Given the description of an element on the screen output the (x, y) to click on. 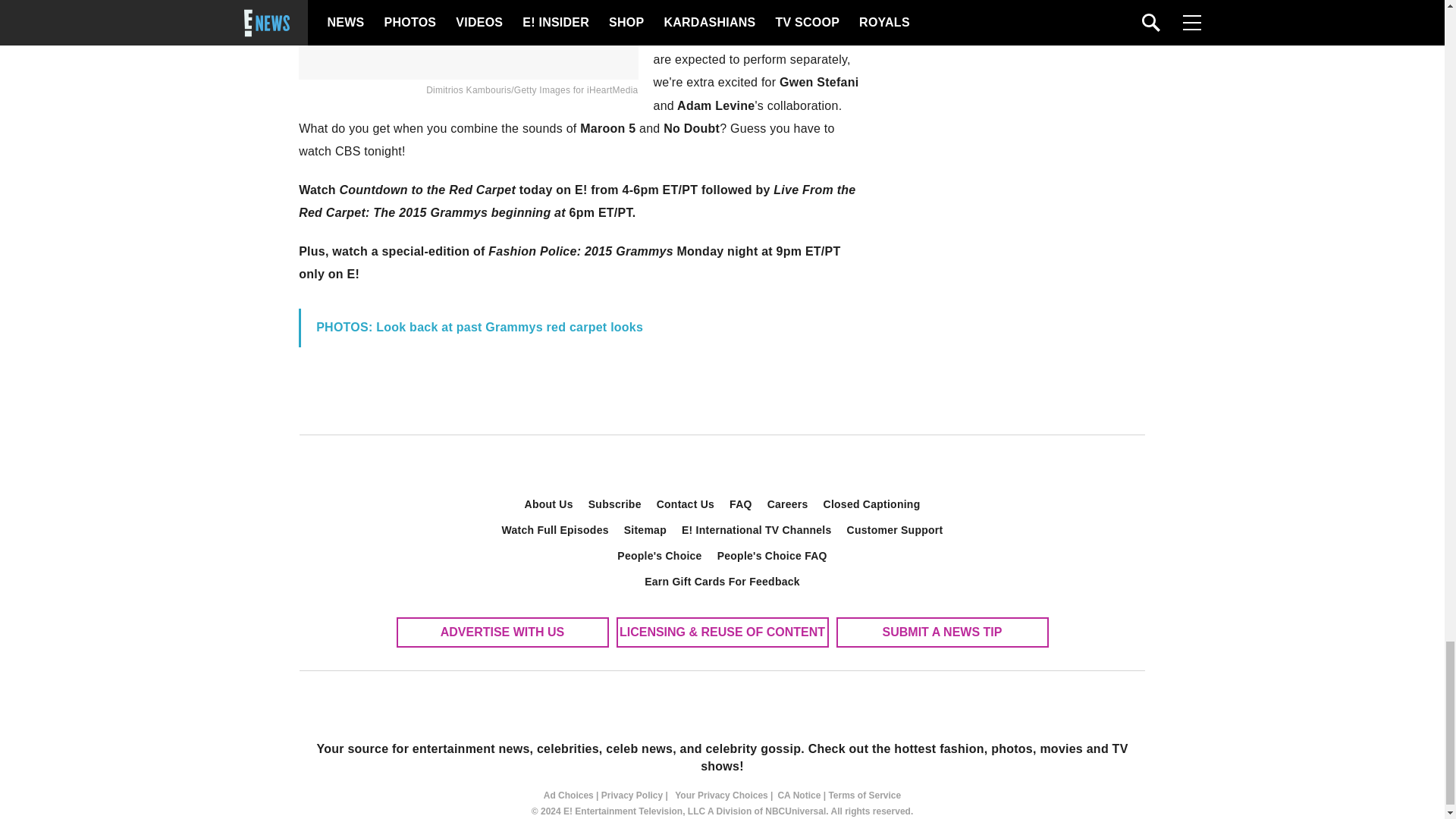
Contact Us (685, 503)
About Us (548, 503)
Subscribe (614, 503)
PHOTOS: Look back at past Grammys red carpet looks  (480, 327)
